Given the description of an element on the screen output the (x, y) to click on. 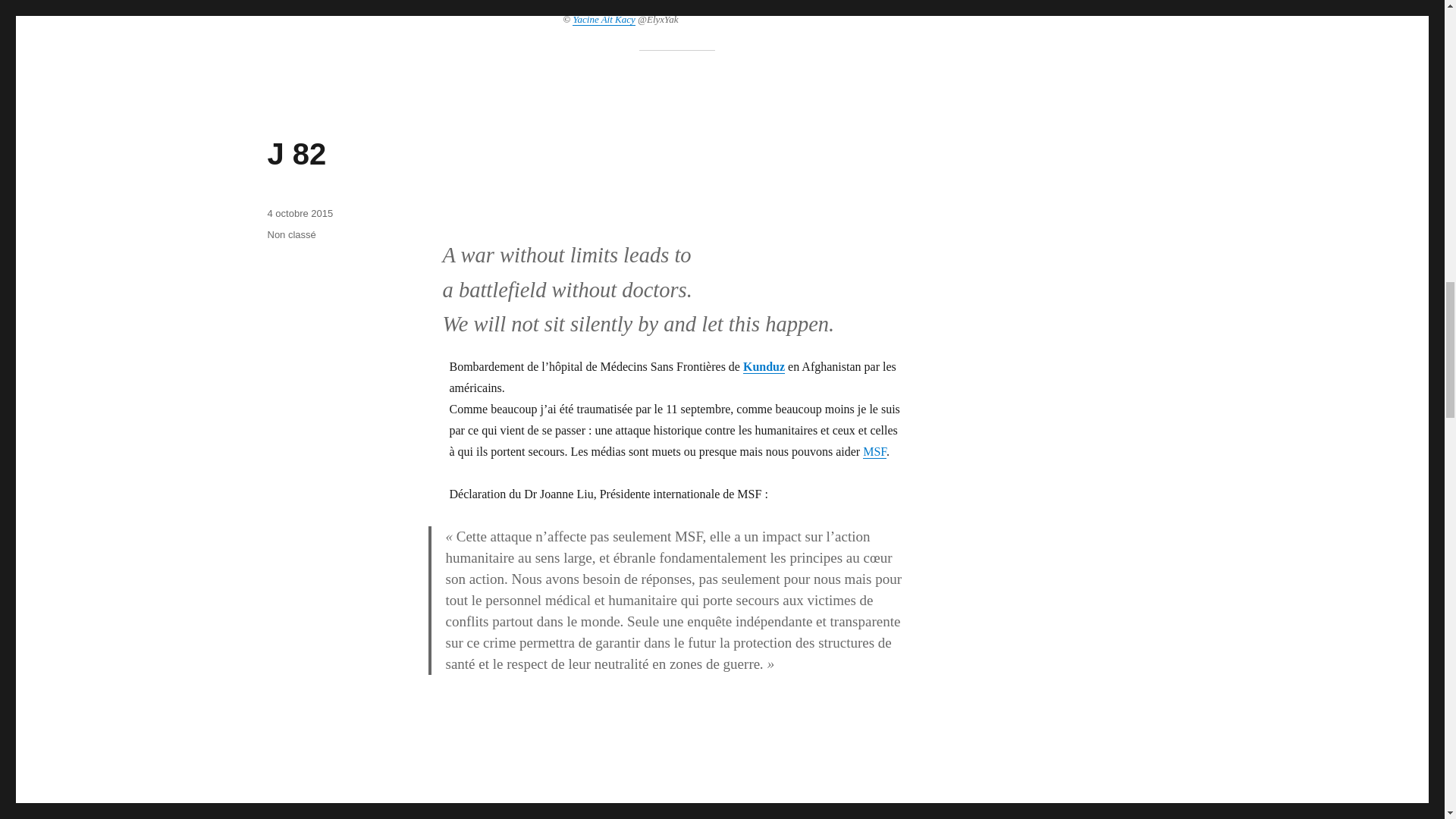
J 81 (296, 813)
MSF (874, 451)
4 octobre 2015 (299, 213)
Yacine Ait Kacy (603, 19)
J 82 (296, 153)
Kunduz (763, 366)
